Given the description of an element on the screen output the (x, y) to click on. 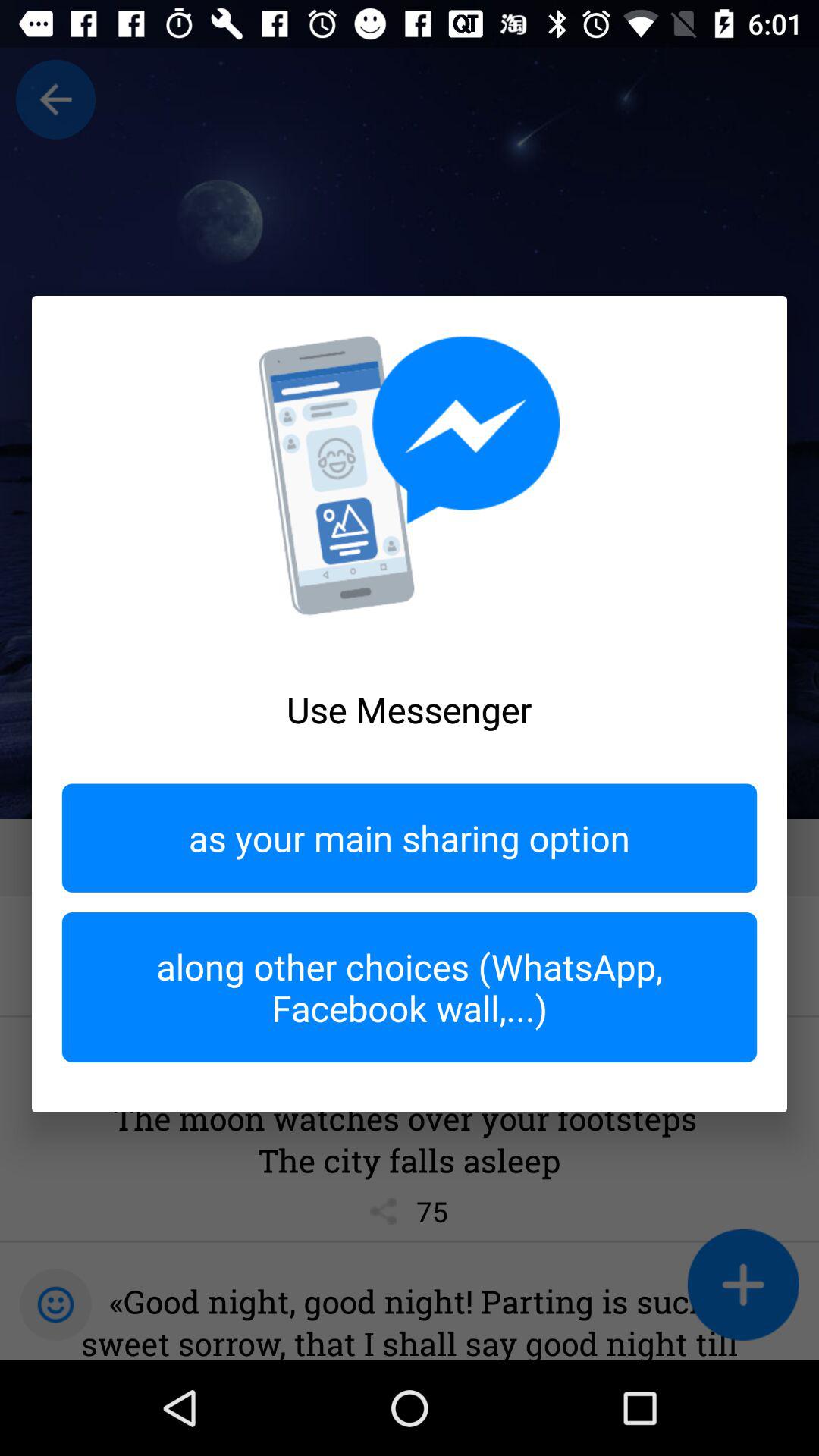
launch along other choices item (409, 987)
